Given the description of an element on the screen output the (x, y) to click on. 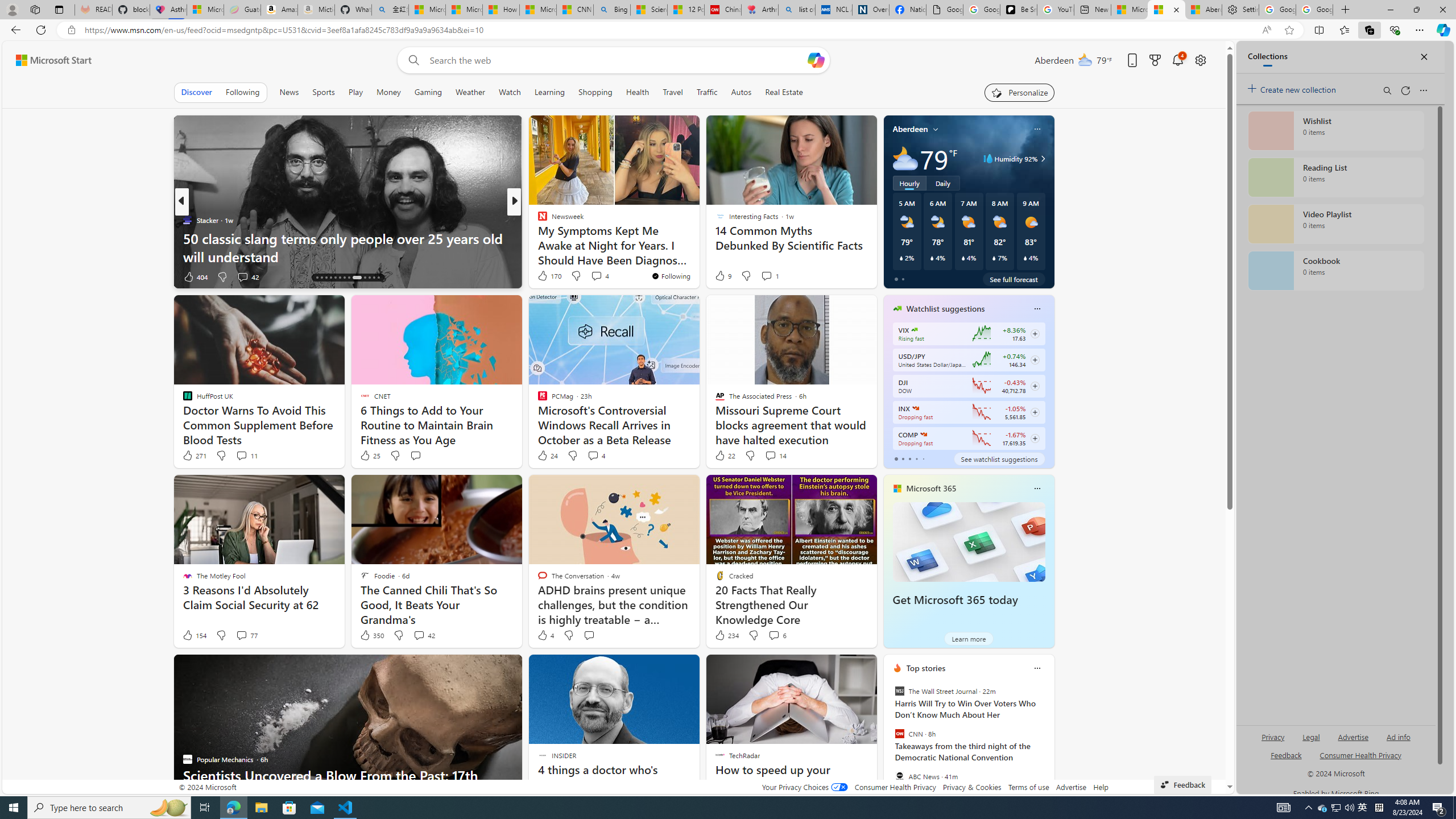
236 Like (545, 276)
4 Like (545, 634)
View comments 11 Comment (241, 455)
AutomationID: tab-24 (368, 277)
View comments 42 Comment (423, 634)
Top stories (925, 668)
170 Like (548, 275)
View comments 4 Comment (592, 455)
